Given the description of an element on the screen output the (x, y) to click on. 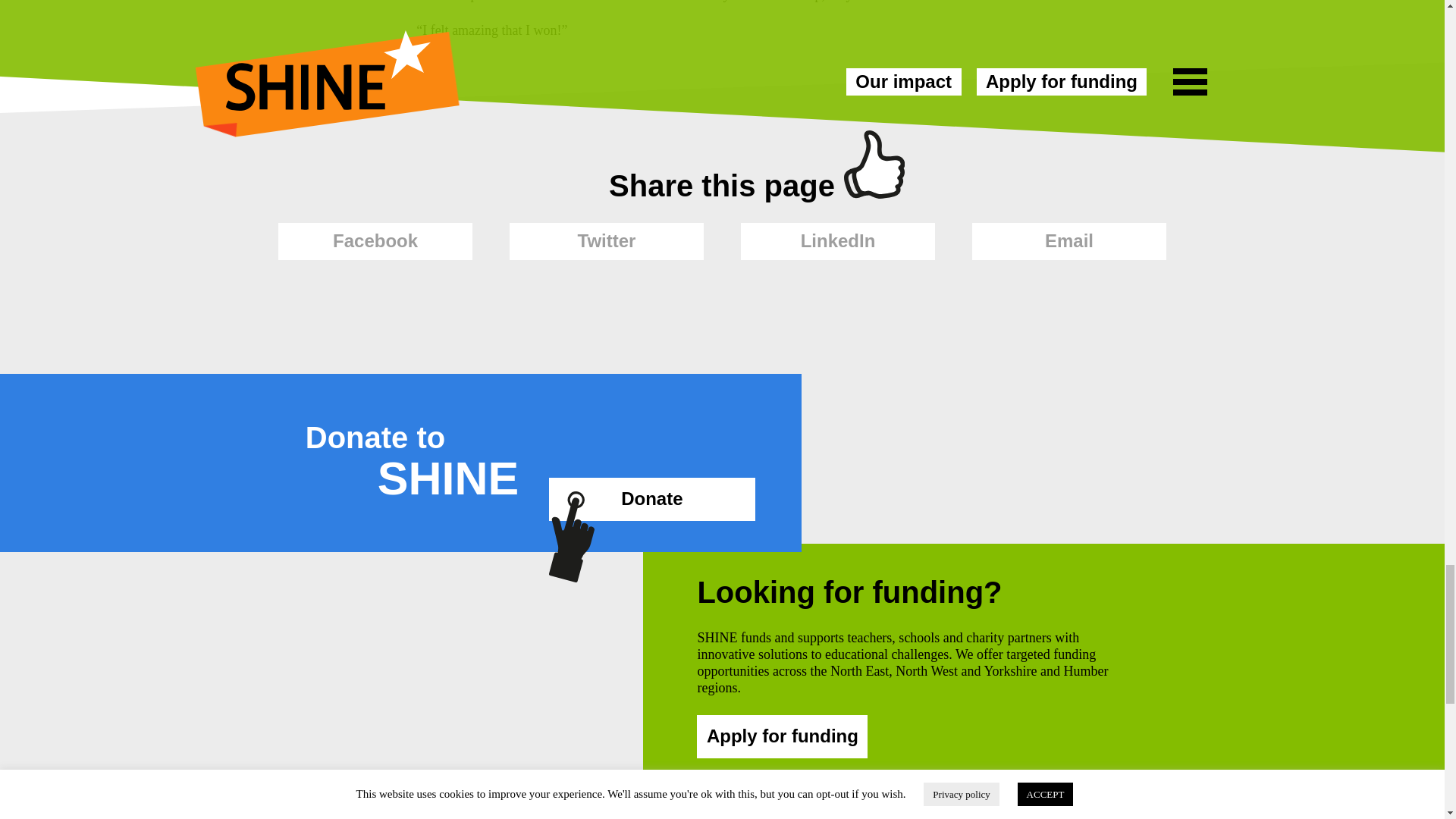
LinkedIn (837, 241)
Email (1069, 241)
Facebook (374, 241)
Apply for funding (782, 736)
Donate (651, 498)
Twitter (606, 241)
